Given the description of an element on the screen output the (x, y) to click on. 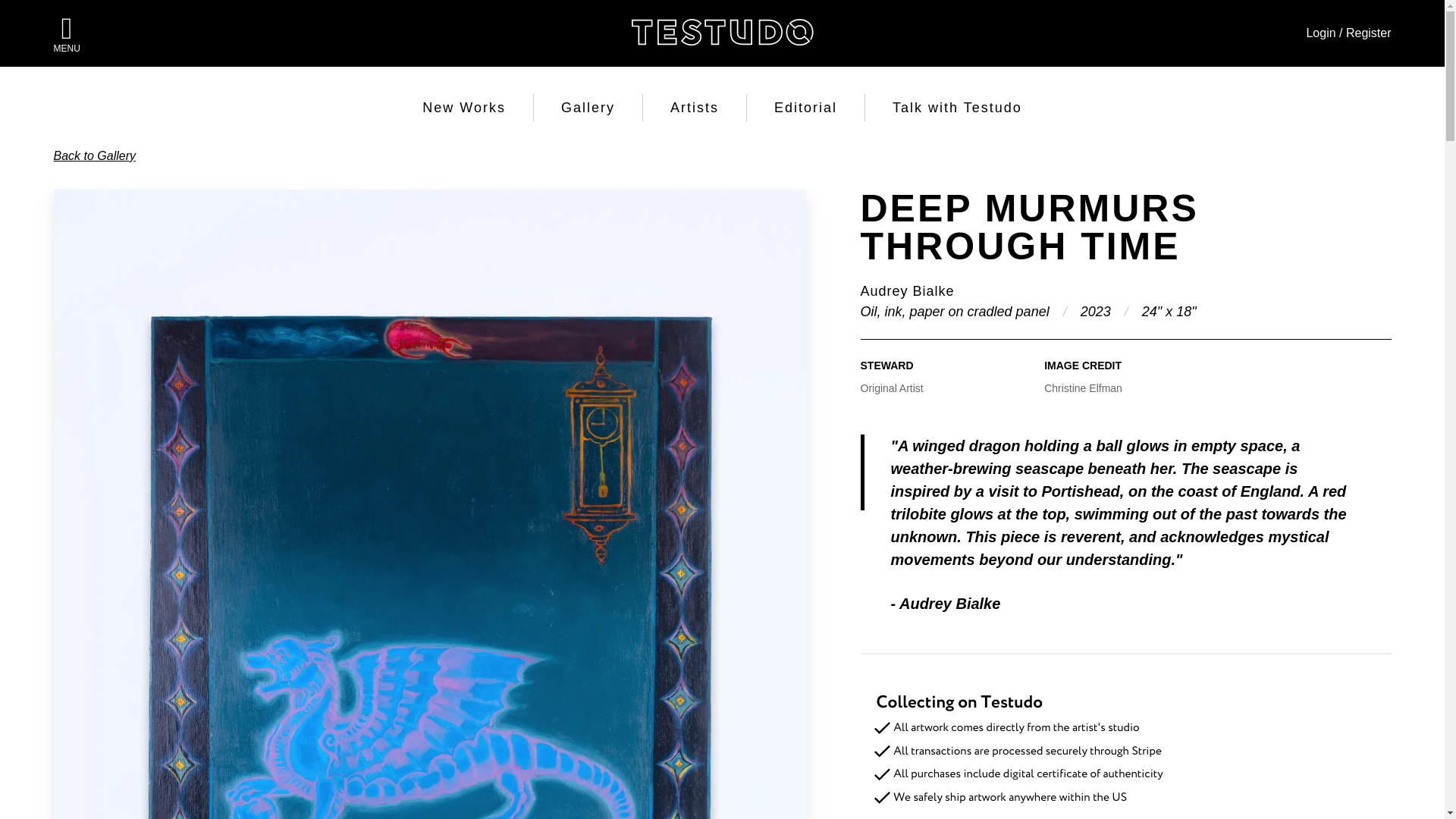
Editorial (805, 107)
Back to Gallery (93, 155)
Talk with Testudo (957, 107)
Audrey Bialke (906, 290)
Artists (694, 107)
Gallery (587, 107)
New Works (463, 107)
